Given the description of an element on the screen output the (x, y) to click on. 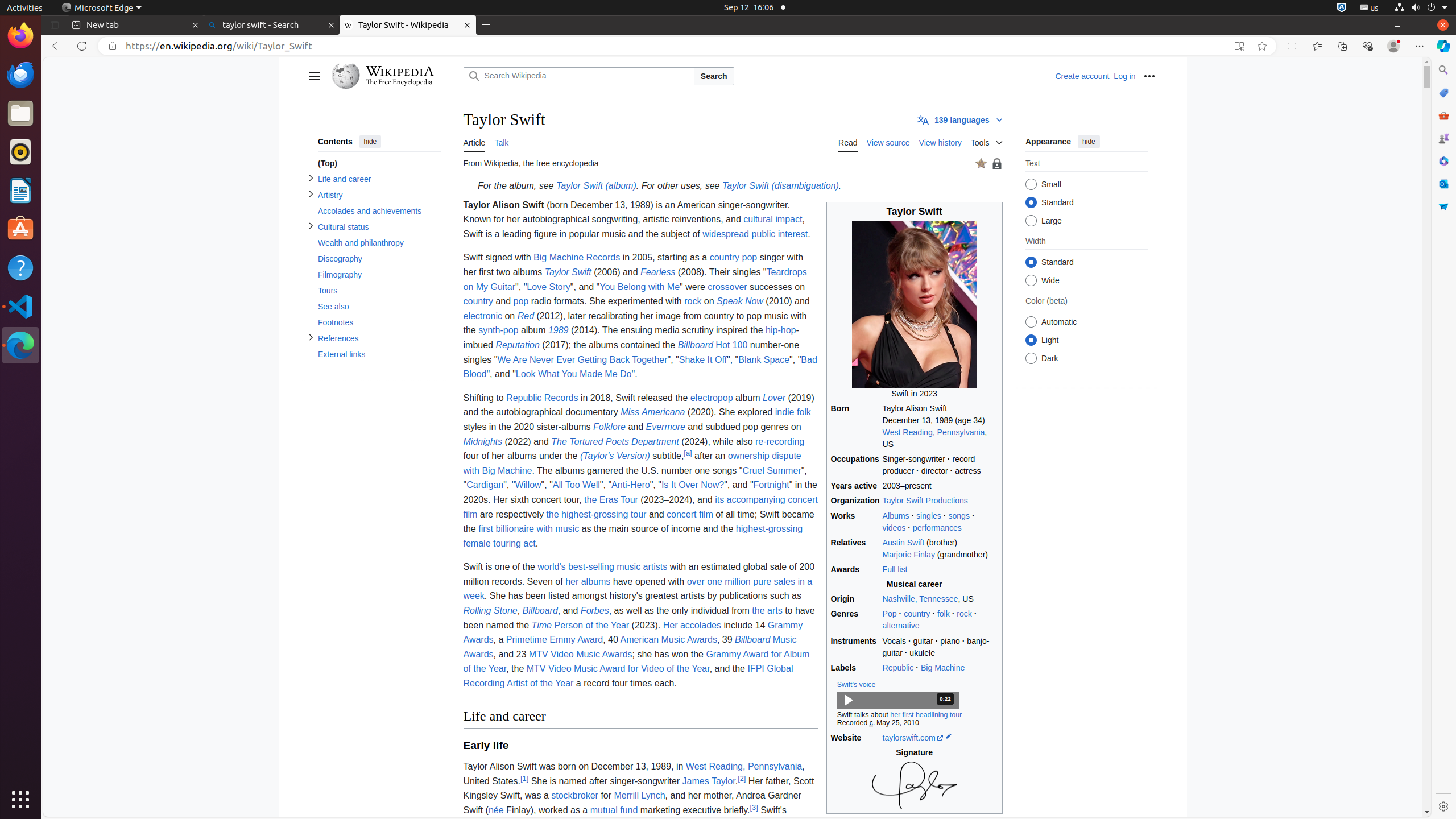
Search Element type: push-button (713, 76)
Marjorie Finlay Element type: link (908, 554)
LibreOffice Writer Element type: push-button (20, 190)
ownership dispute with Big Machine Element type: link (631, 463)
2003–present Element type: table-cell (939, 486)
